Given the description of an element on the screen output the (x, y) to click on. 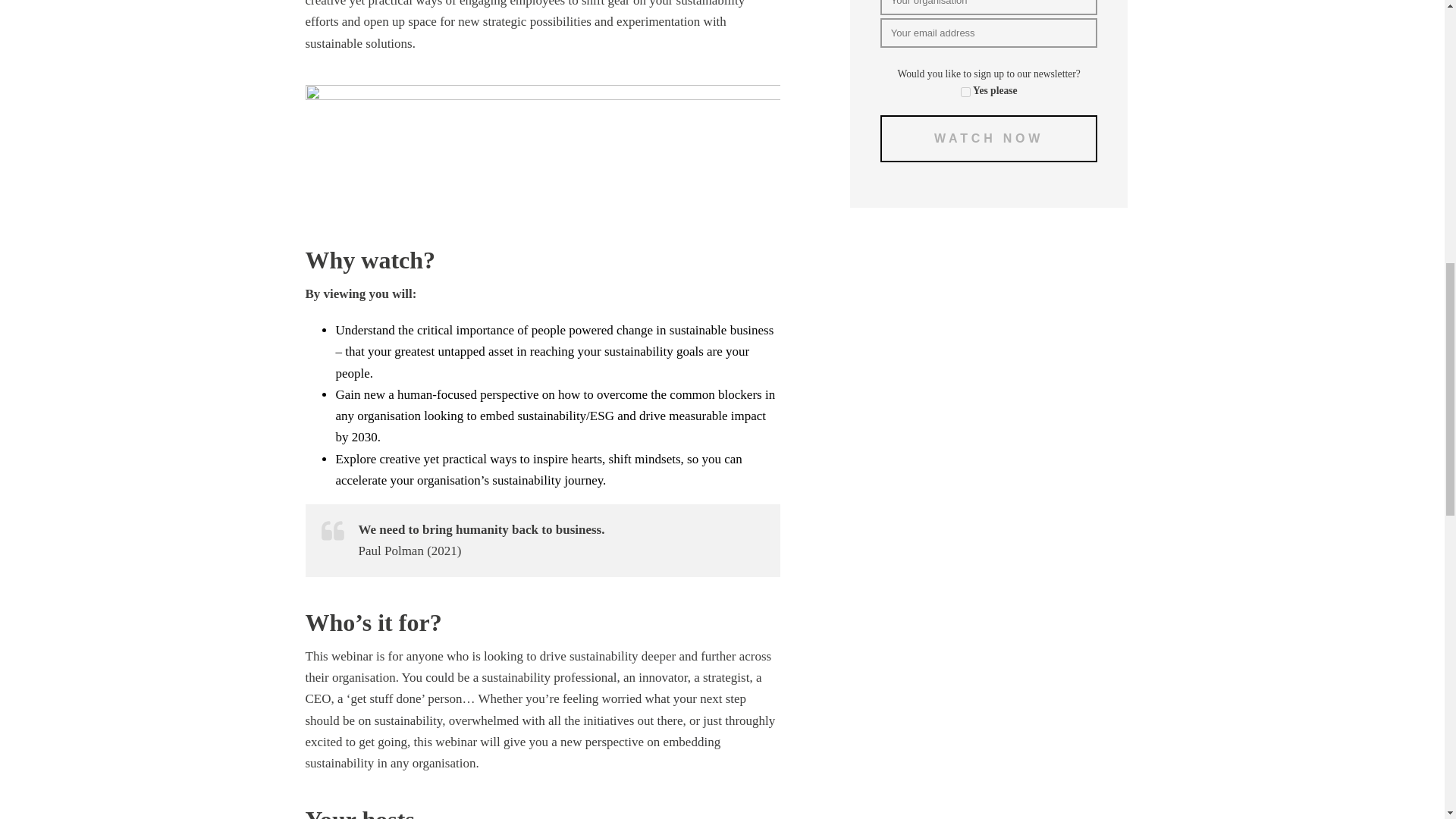
WATCH NOW (988, 138)
WATCH NOW (988, 138)
211020-webinar-sphera (542, 144)
Yes (965, 91)
